Given the description of an element on the screen output the (x, y) to click on. 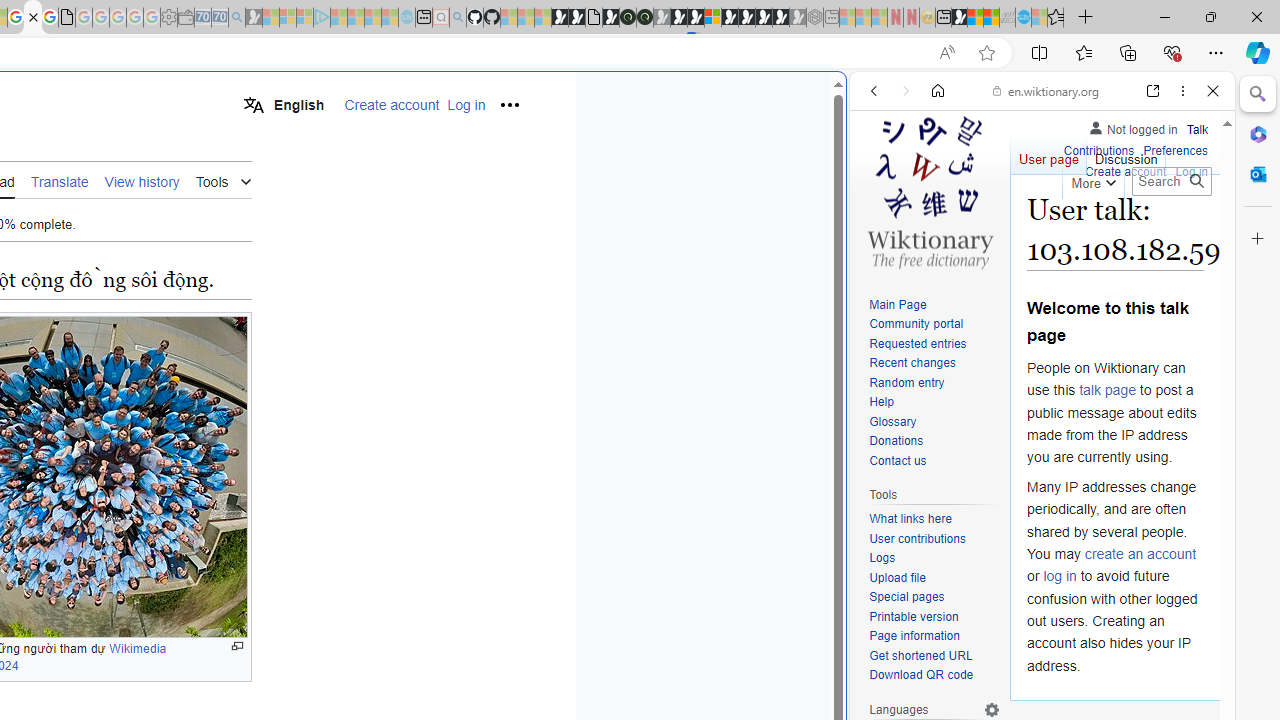
Future Focus Report 2024 (644, 17)
Contributions (1098, 151)
View history (141, 181)
talk page (1107, 390)
Requested entries (934, 344)
Community portal (934, 324)
Requested entries (917, 343)
Close split screen (844, 102)
User page (1048, 154)
Random entry (934, 382)
